Given the description of an element on the screen output the (x, y) to click on. 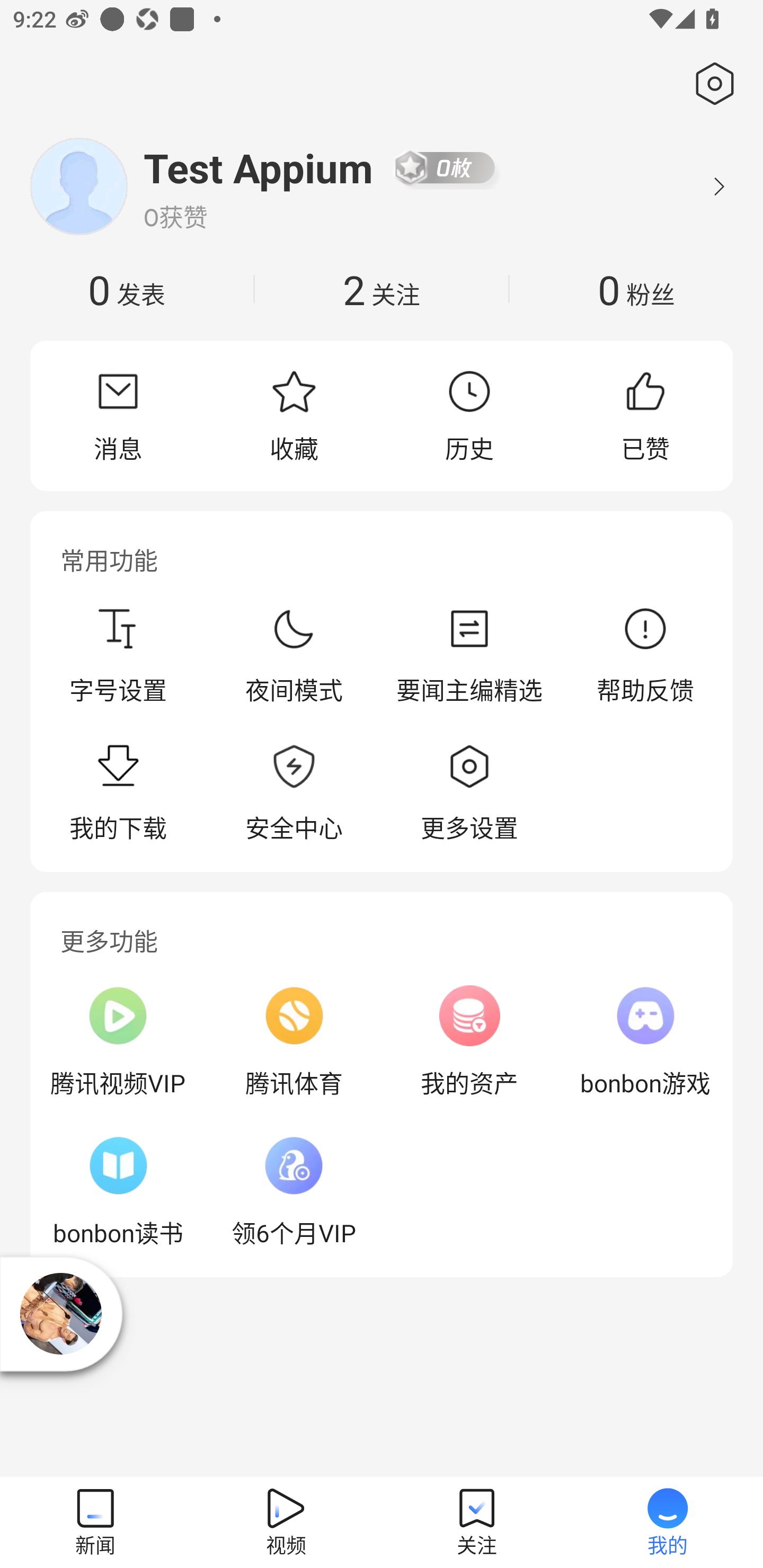
设置，可点击 (711, 83)
头像，可点击 (78, 186)
用户：Test Appium，可点击 (258, 167)
0枚勋章，可点击 (444, 167)
0发表，可点击 (126, 288)
2关注，可点击 (381, 288)
0粉丝，可点击 (636, 288)
消息，可点击 (118, 415)
收藏，可点击 (293, 415)
历史，可点击 (469, 415)
已赞，可点击 (644, 415)
字号设置，可点击 (118, 655)
夜间模式，可点击 (293, 655)
要闻主编精选，可点击 (469, 655)
帮助反馈，可点击 (644, 655)
我的下载，可点击 (118, 793)
安全中心，可点击 (293, 793)
更多设置，可点击 (469, 793)
腾讯视频VIP，可点击 (118, 1041)
腾讯体育，可点击 (293, 1041)
我的资产，可点击 (469, 1041)
bonbon游戏，可点击 (644, 1041)
bonbon读书，可点击 (118, 1191)
领6个月VIP，可点击 (293, 1191)
播放器 (60, 1312)
